Given the description of an element on the screen output the (x, y) to click on. 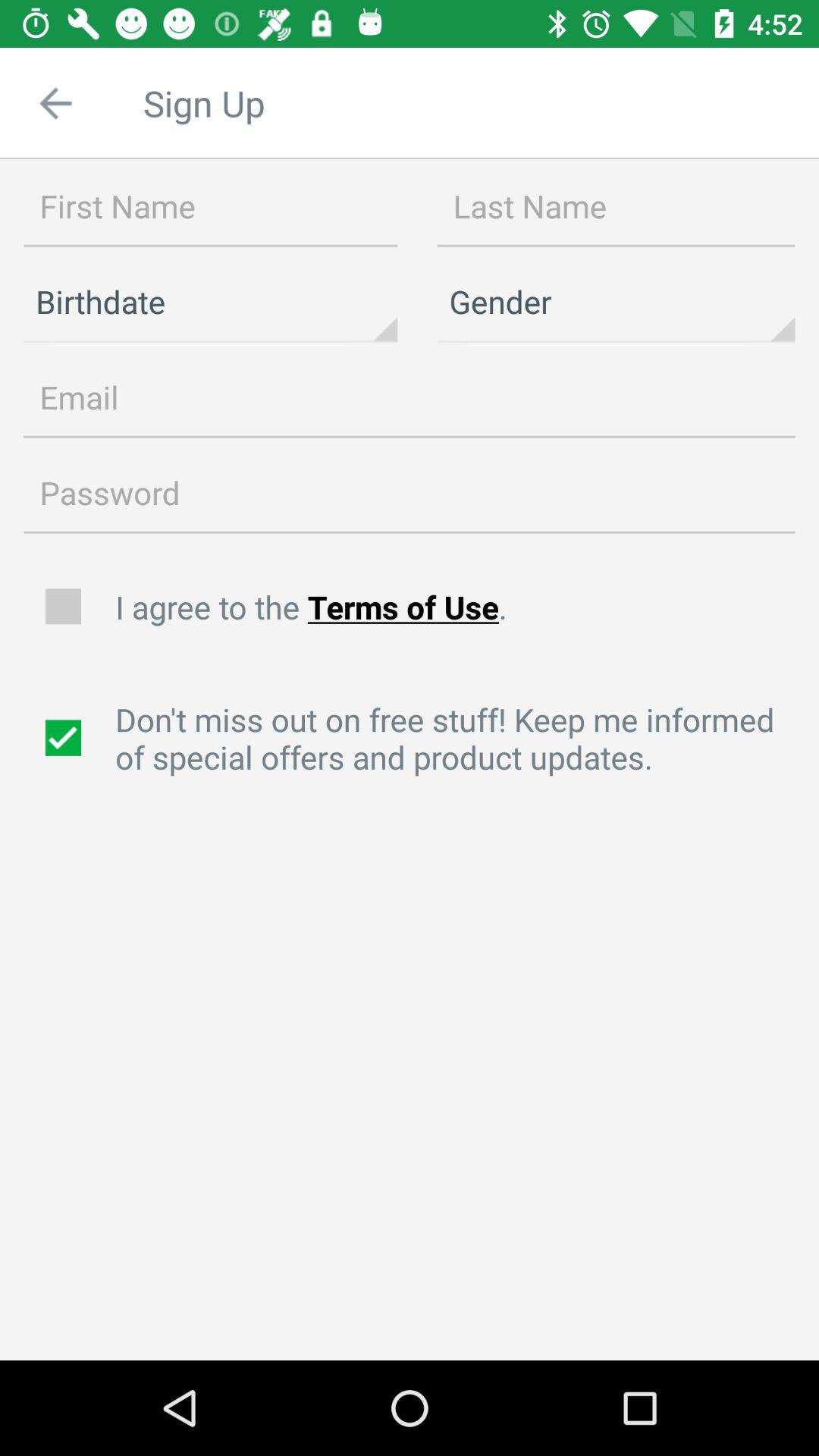
name field (210, 206)
